Given the description of an element on the screen output the (x, y) to click on. 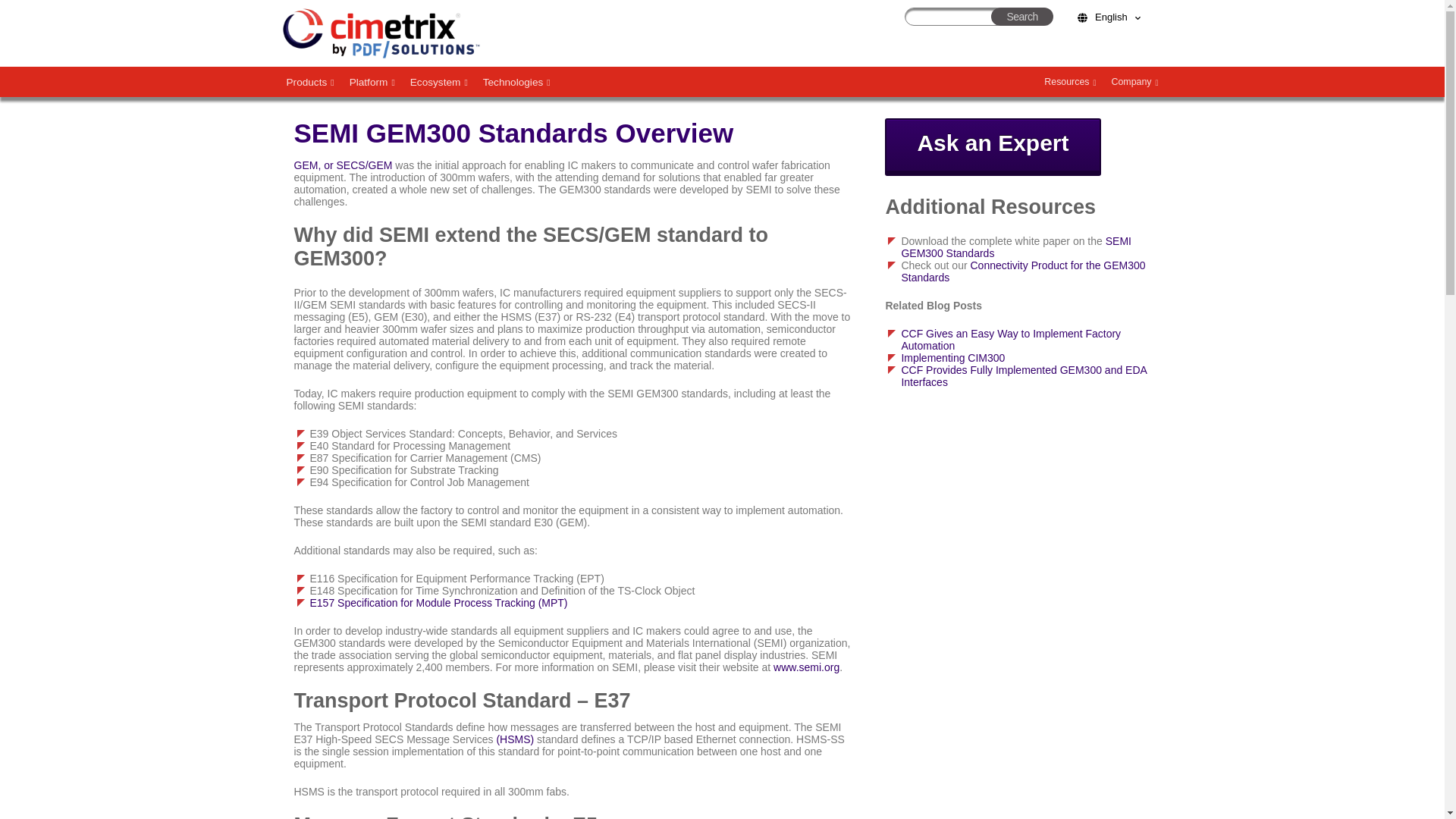
Platform (372, 82)
Search (1021, 16)
Ecosystem (439, 82)
Products (310, 82)
English (1109, 16)
Cimetrix-PDF-combined-logo (381, 32)
Search (1021, 16)
Ask an Expert (992, 146)
Technologies (516, 82)
Search (1021, 16)
Resources (1069, 82)
